Given the description of an element on the screen output the (x, y) to click on. 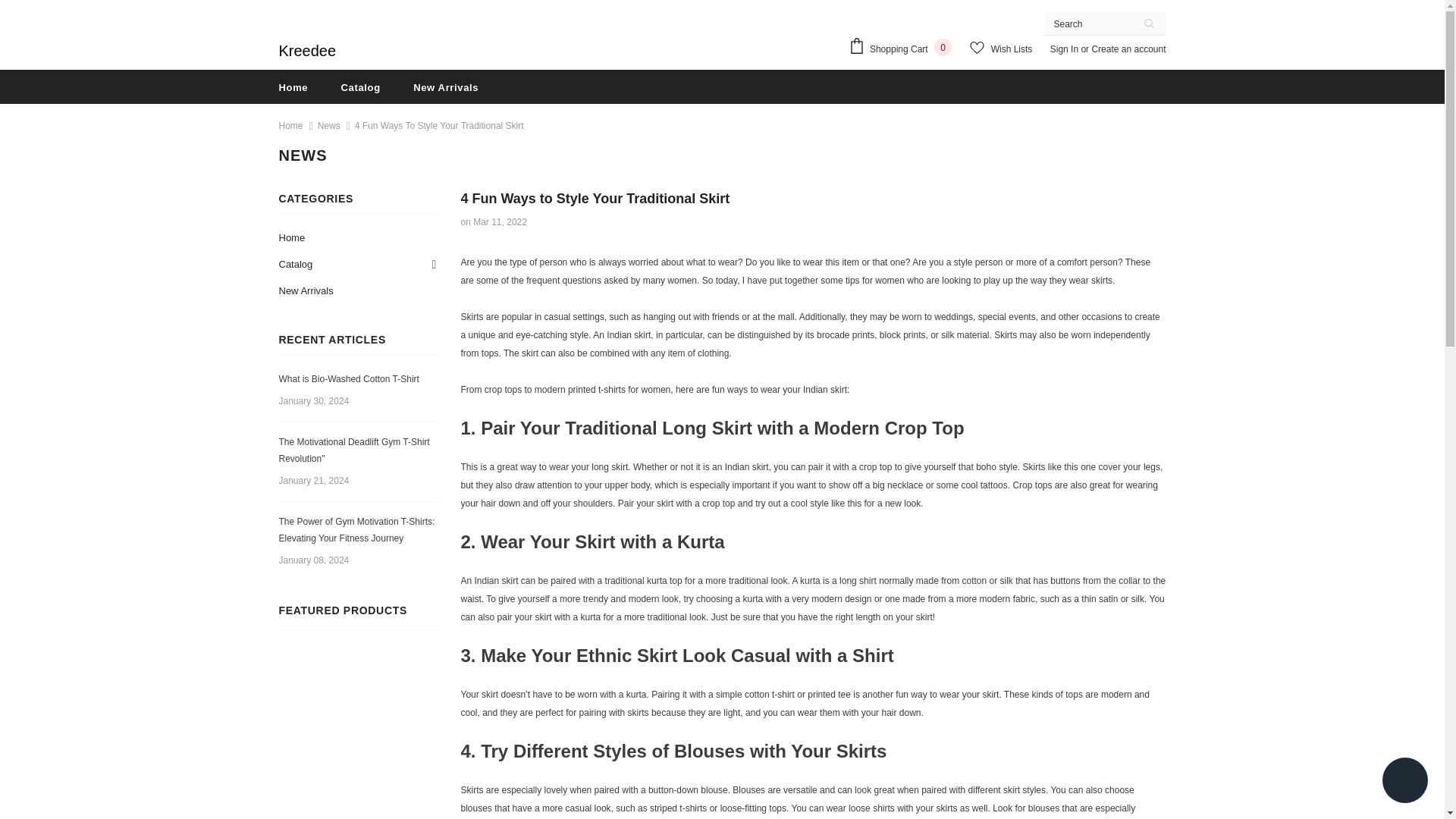
Sign In (1065, 49)
New Arrivals (446, 86)
Shopping Cart 0 (903, 47)
Wish Lists (1000, 49)
Catalog (360, 86)
Kreedee (307, 50)
Create an account (1128, 49)
